Given the description of an element on the screen output the (x, y) to click on. 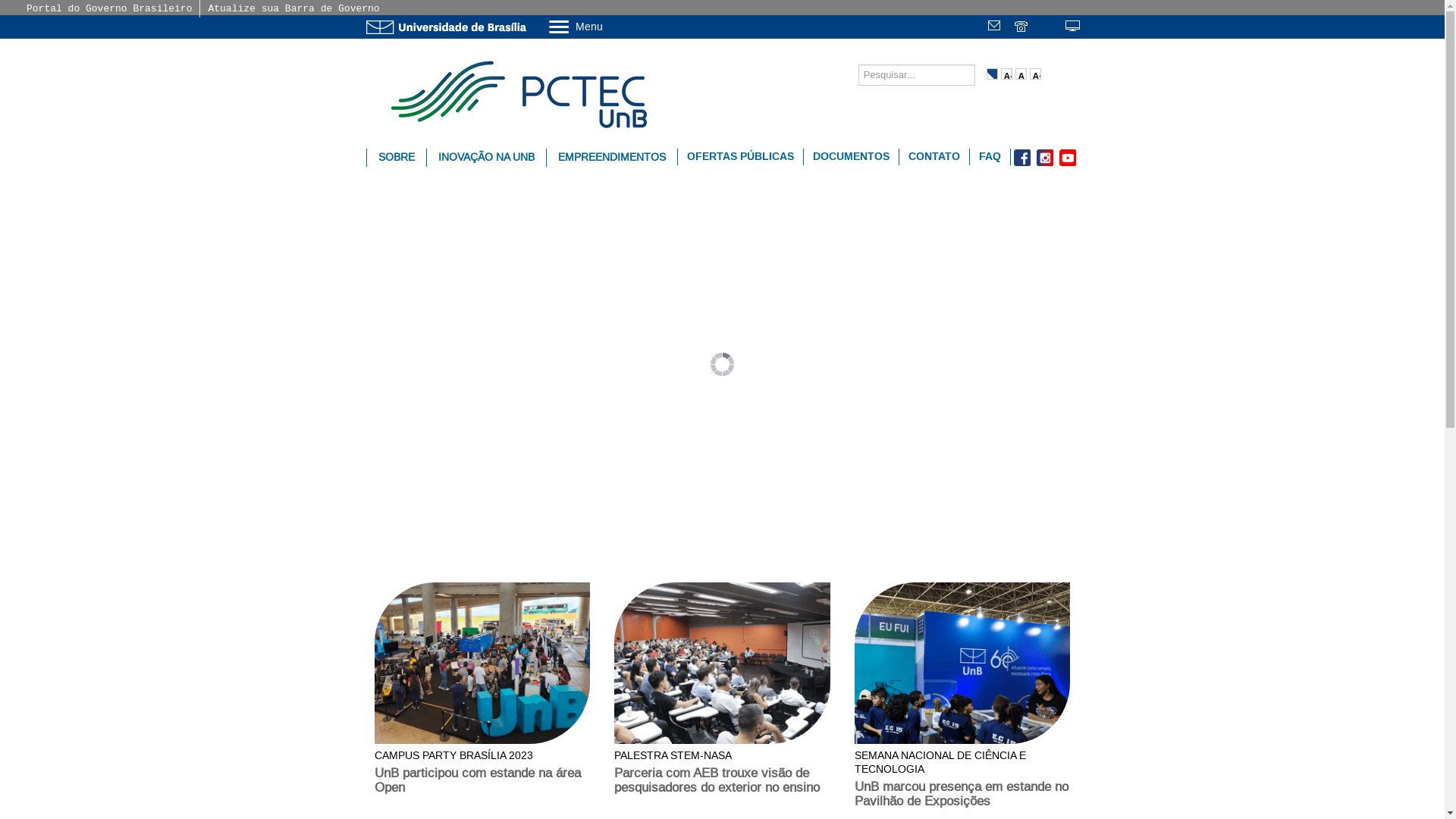
A+ Element type: text (1035, 73)
DOCUMENTOS Element type: text (850, 156)
Sistemas Element type: hover (1073, 27)
  Element type: text (996, 27)
  Element type: text (1047, 27)
Webmail Element type: hover (996, 27)
A- Element type: text (1006, 73)
Portal do Governo Brasileiro Element type: text (108, 8)
  Element type: text (1073, 27)
A Element type: text (1020, 73)
Menu Element type: text (613, 25)
CONTATO Element type: text (934, 156)
Ir para o Portal da UnB Element type: hover (448, 26)
Atualize sua Barra de Governo Element type: text (293, 8)
Fala.BR Element type: hover (1047, 27)
FAQ Element type: text (989, 156)
Telefones da UnB Element type: hover (1022, 27)
  Element type: text (1022, 27)
